Given the description of an element on the screen output the (x, y) to click on. 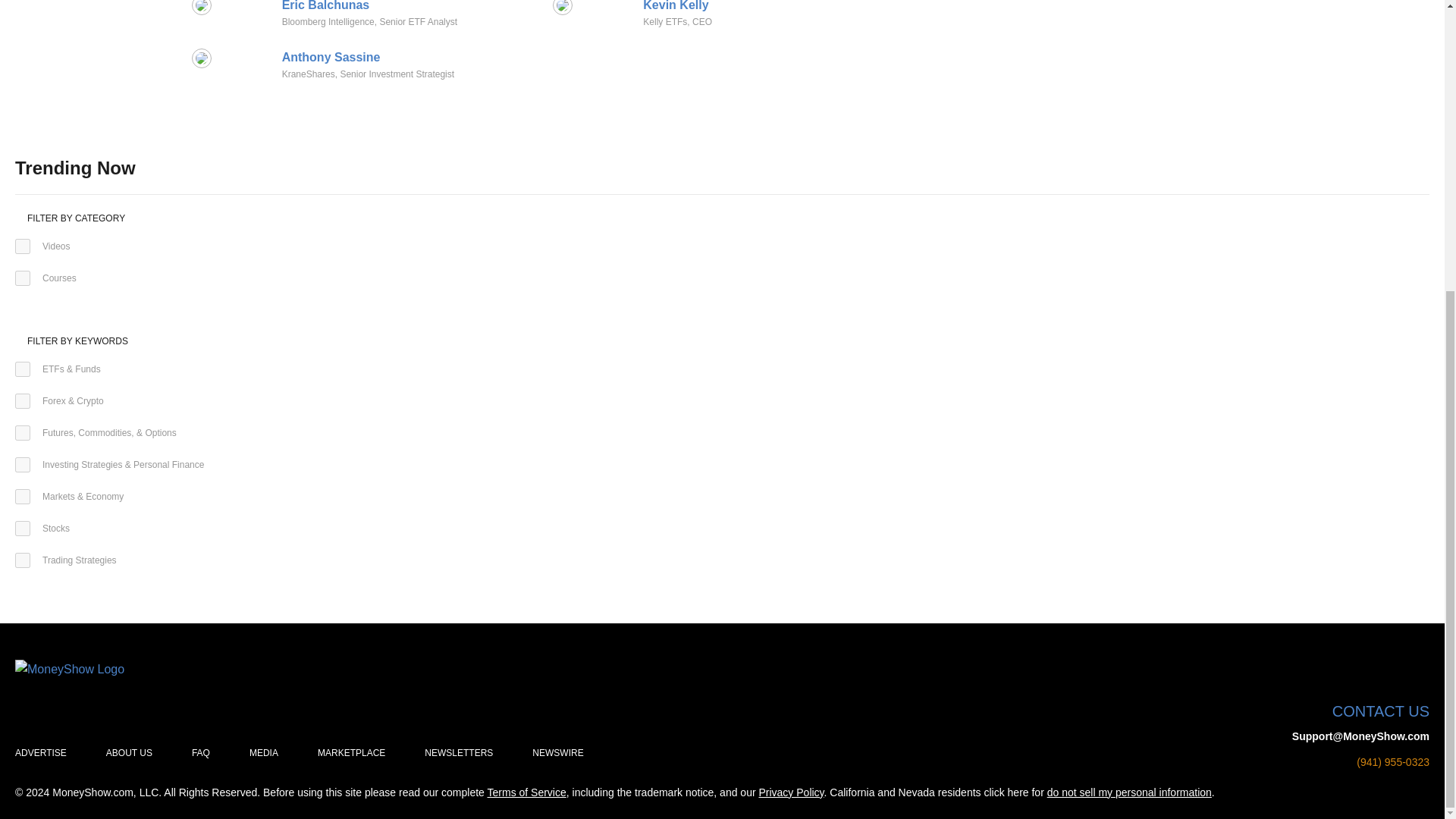
Trading Strategies (22, 560)
Videos (22, 246)
Stocks (22, 528)
Courses (22, 278)
Eric Balchunas (325, 5)
